Given the description of an element on the screen output the (x, y) to click on. 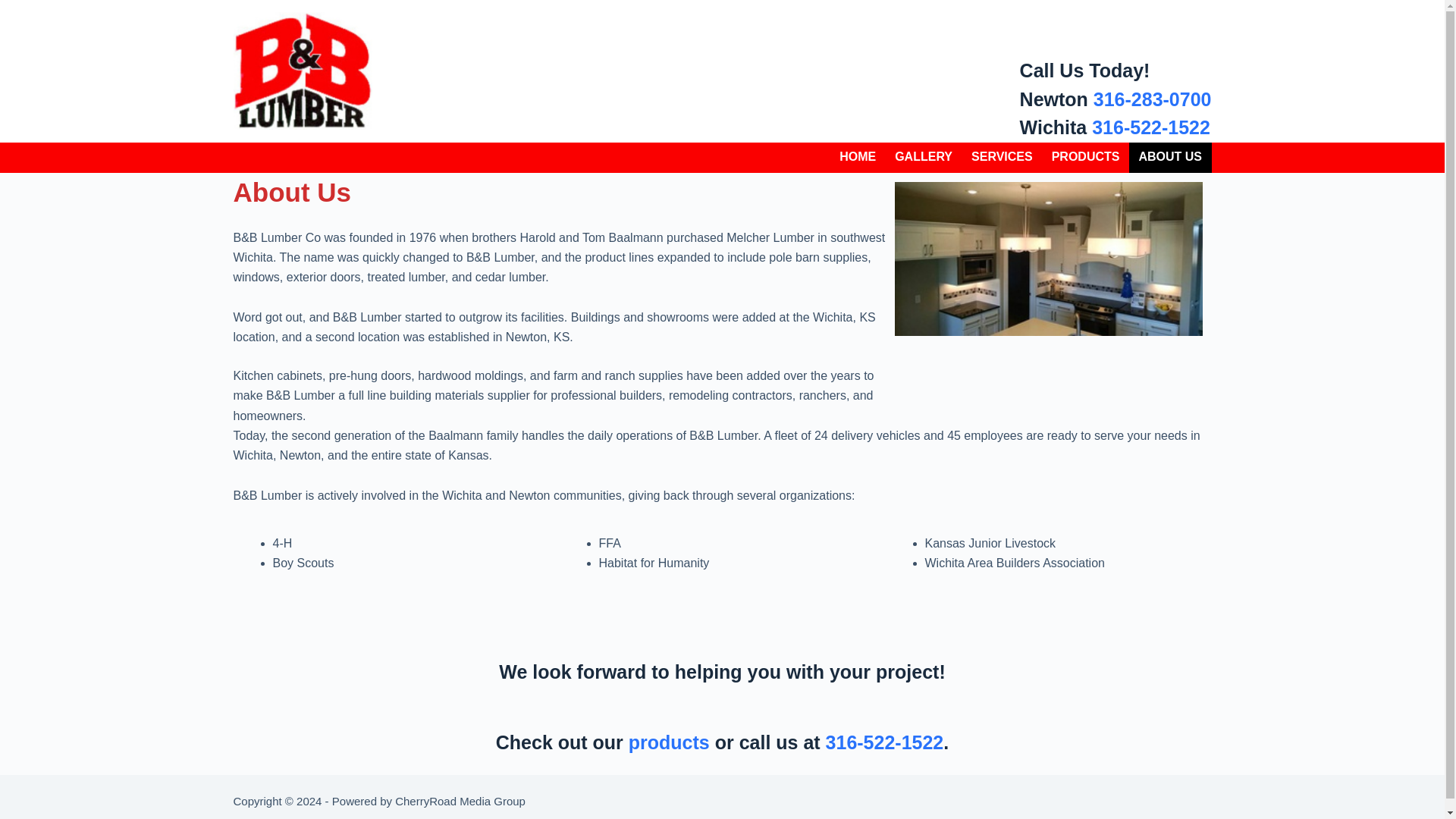
316-283-0700 (1152, 97)
SERVICES (1002, 157)
Skip to content (15, 7)
GALLERY (923, 157)
CherryRoad Media Group (459, 800)
PRODUCTS (1085, 157)
ABOUT US (1170, 157)
products (669, 742)
HOME (857, 157)
316-522-1522 (884, 742)
316-522-1522 (1150, 127)
